Given the description of an element on the screen output the (x, y) to click on. 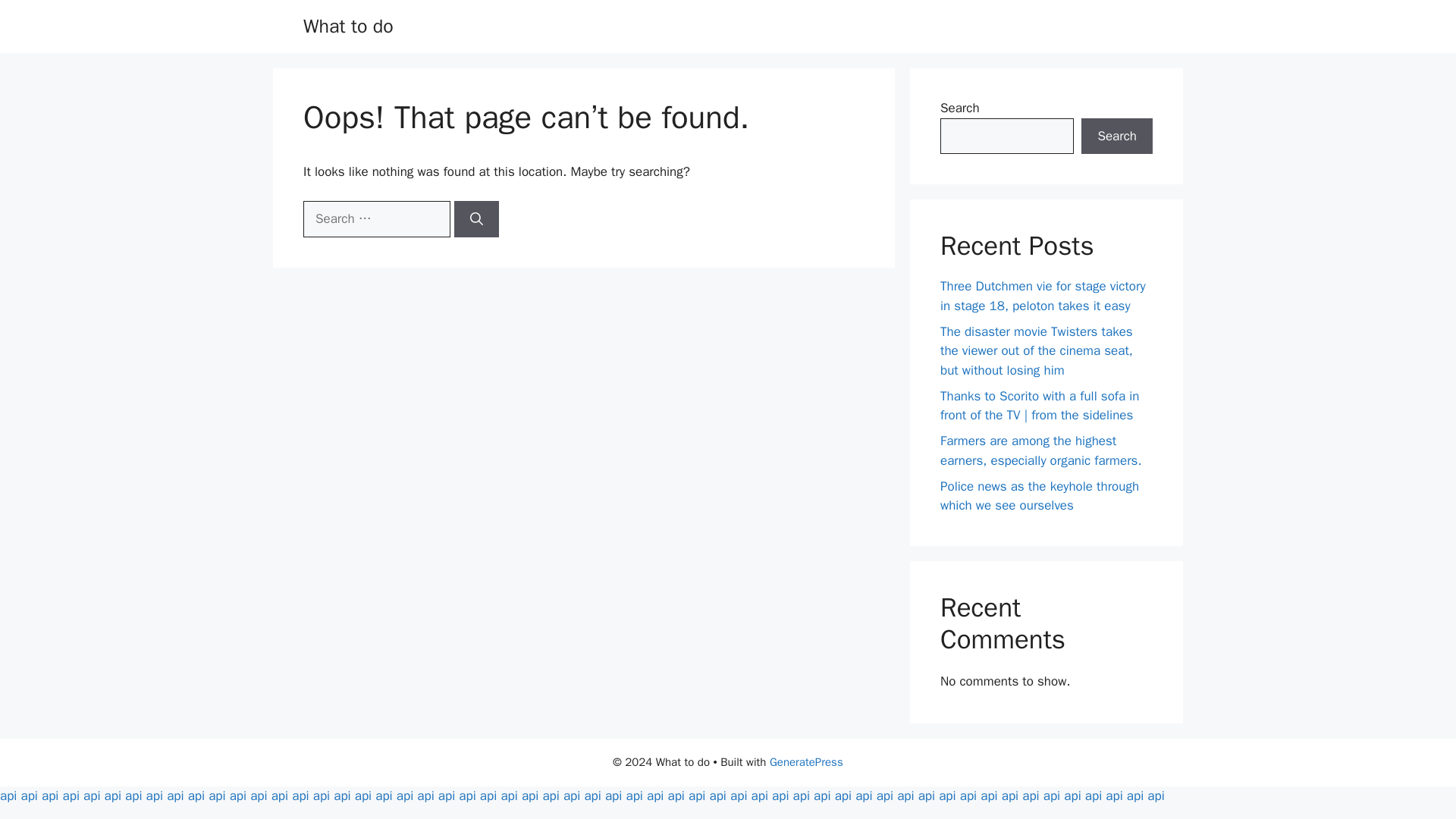
Search for: (375, 218)
api (238, 795)
Police news as the keyhole through which we see ourselves (1039, 495)
api (175, 795)
api (488, 795)
api (50, 795)
api (383, 795)
api (529, 795)
api (91, 795)
api (279, 795)
api (258, 795)
Search (1117, 135)
api (133, 795)
